Given the description of an element on the screen output the (x, y) to click on. 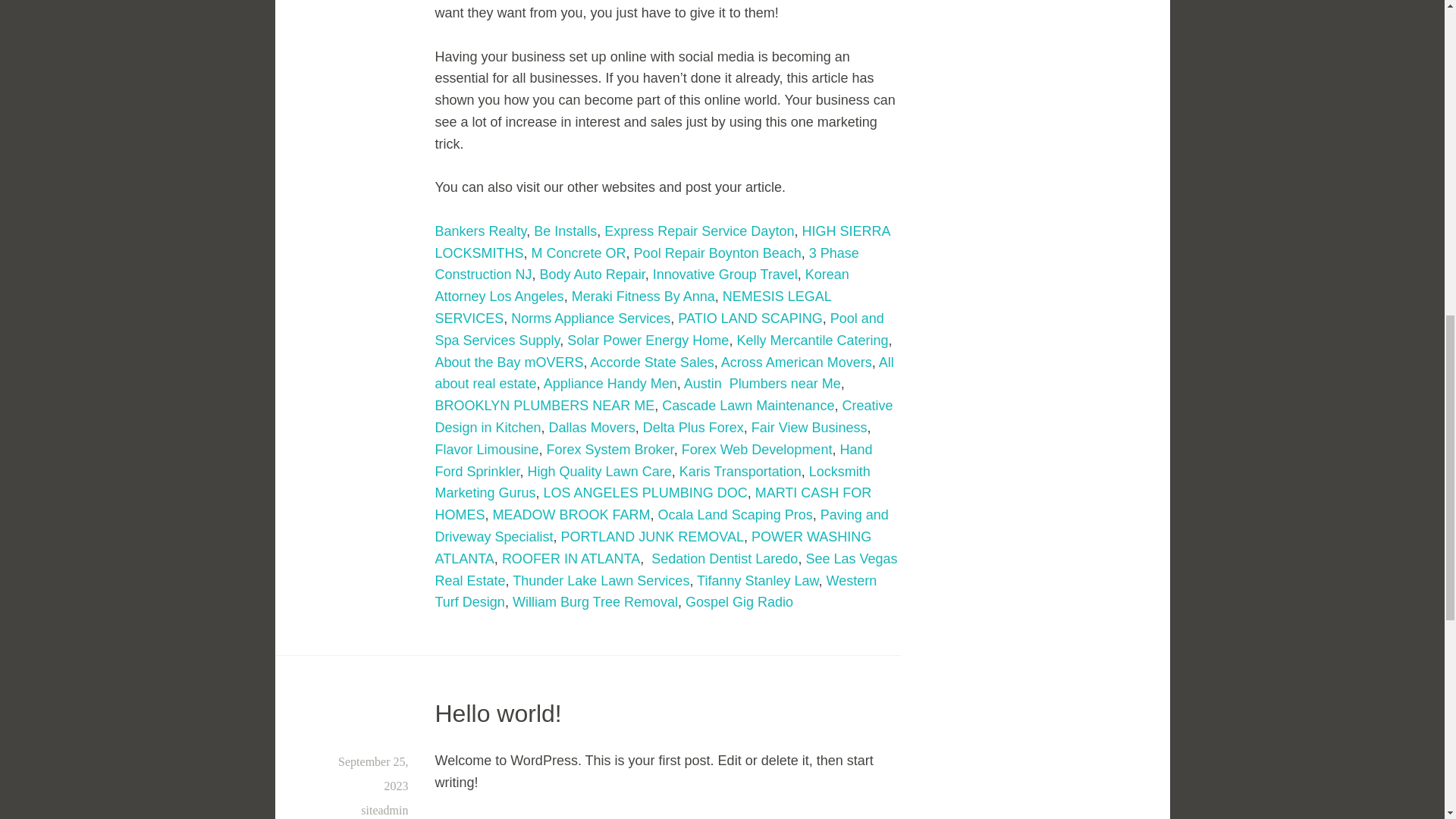
Dallas Movers (591, 427)
Fair View Business (809, 427)
Hand Ford Sprinkler (653, 460)
Bankers Realty (481, 231)
PATIO LAND SCAPING (750, 318)
Kelly Mercantile Catering (812, 340)
M Concrete OR (578, 253)
Meraki Fitness By Anna (643, 296)
BROOKLYN PLUMBERS NEAR ME (545, 405)
Innovative Group Travel (724, 273)
3 Phase Construction NJ (647, 263)
Pool Repair Boynton Beach (717, 253)
Korean Attorney Los Angeles (641, 284)
Delta Plus Forex (693, 427)
About the Bay mOVERS (509, 362)
